Given the description of an element on the screen output the (x, y) to click on. 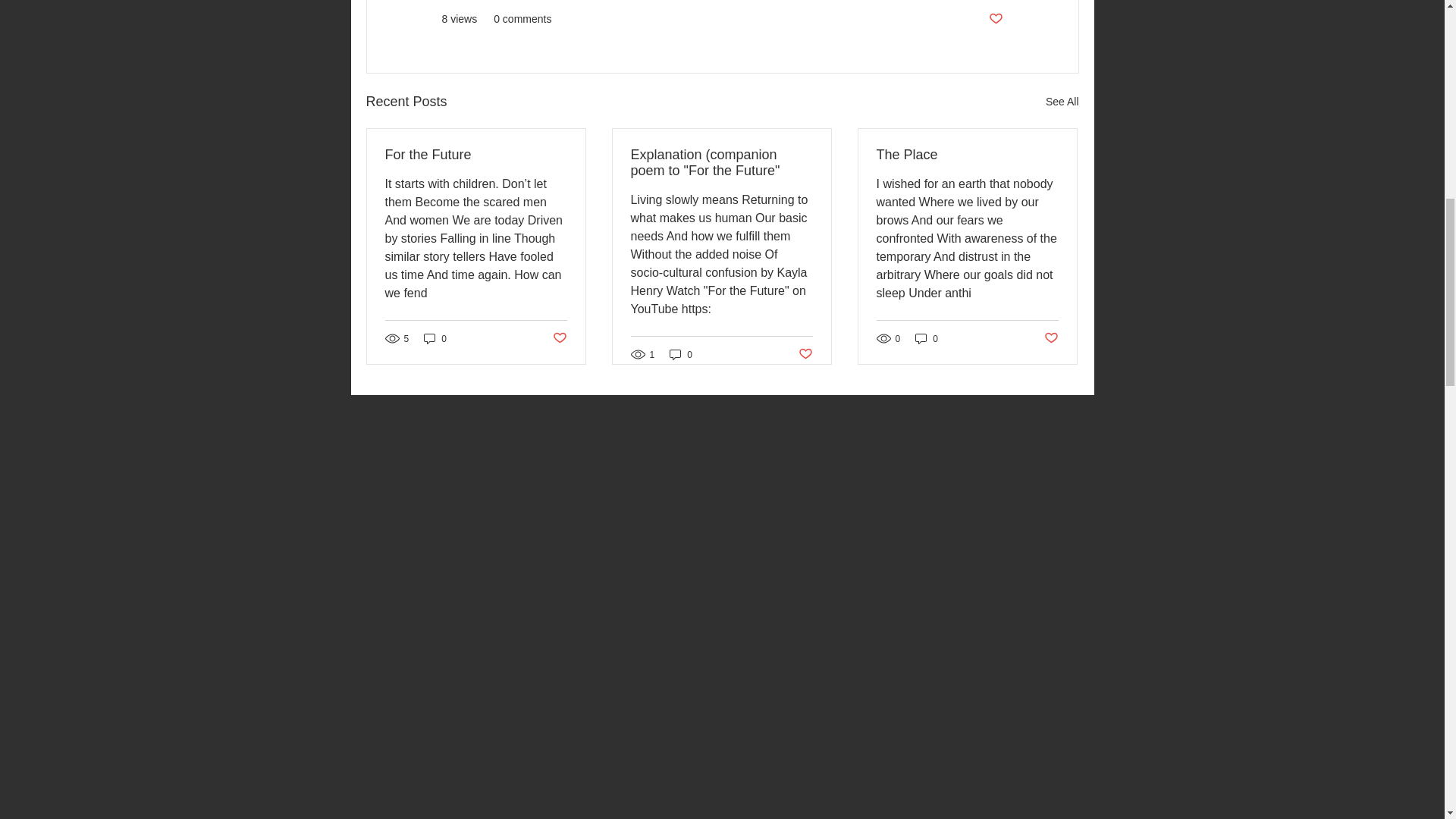
Post not marked as liked (1050, 338)
0 (926, 338)
Post not marked as liked (995, 19)
For the Future (476, 154)
Post not marked as liked (804, 354)
0 (435, 338)
0 (681, 354)
The Place (967, 154)
See All (1061, 101)
Post not marked as liked (558, 338)
